Given the description of an element on the screen output the (x, y) to click on. 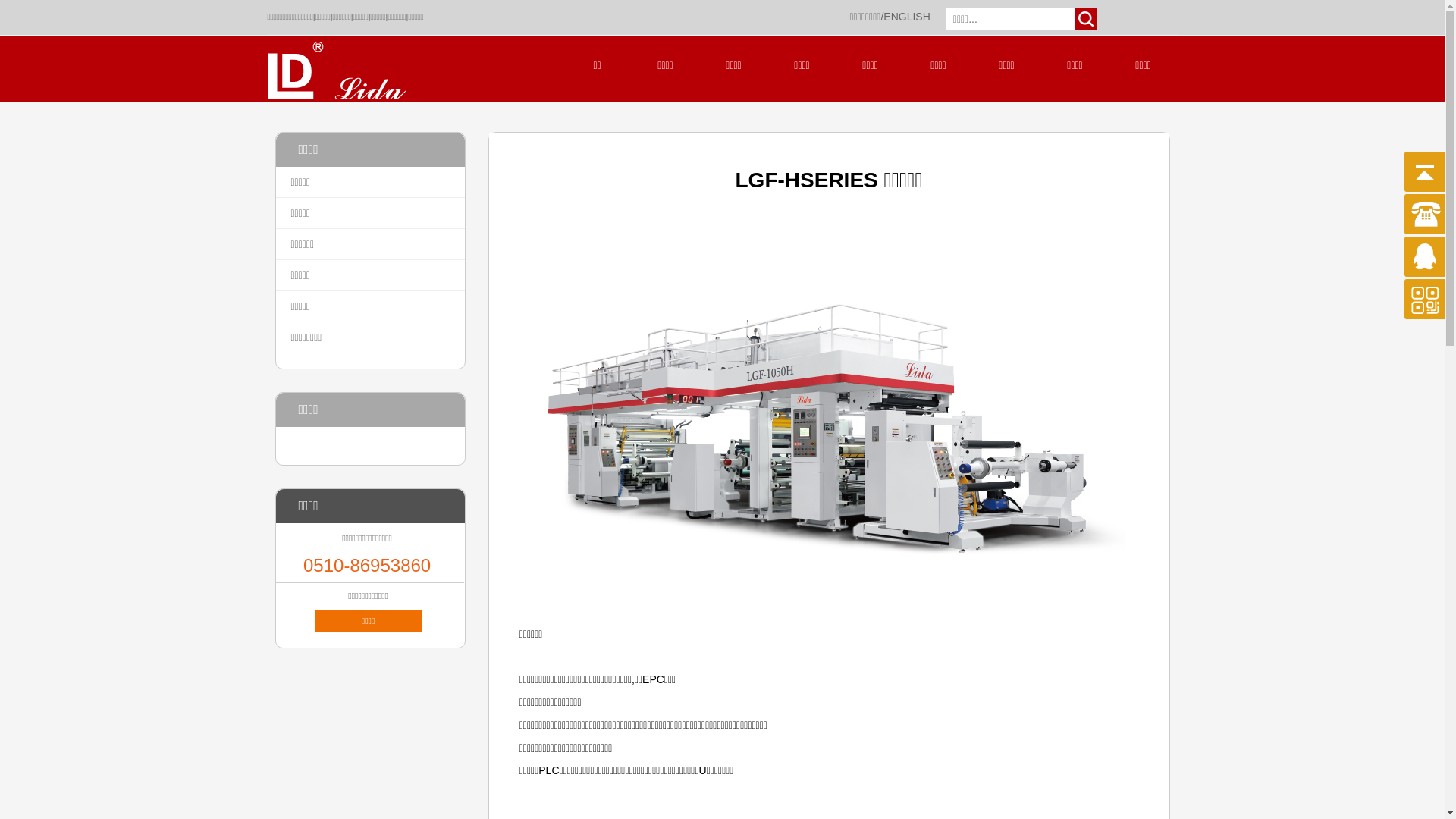
ENGLISH Element type: text (906, 16)
